Given the description of an element on the screen output the (x, y) to click on. 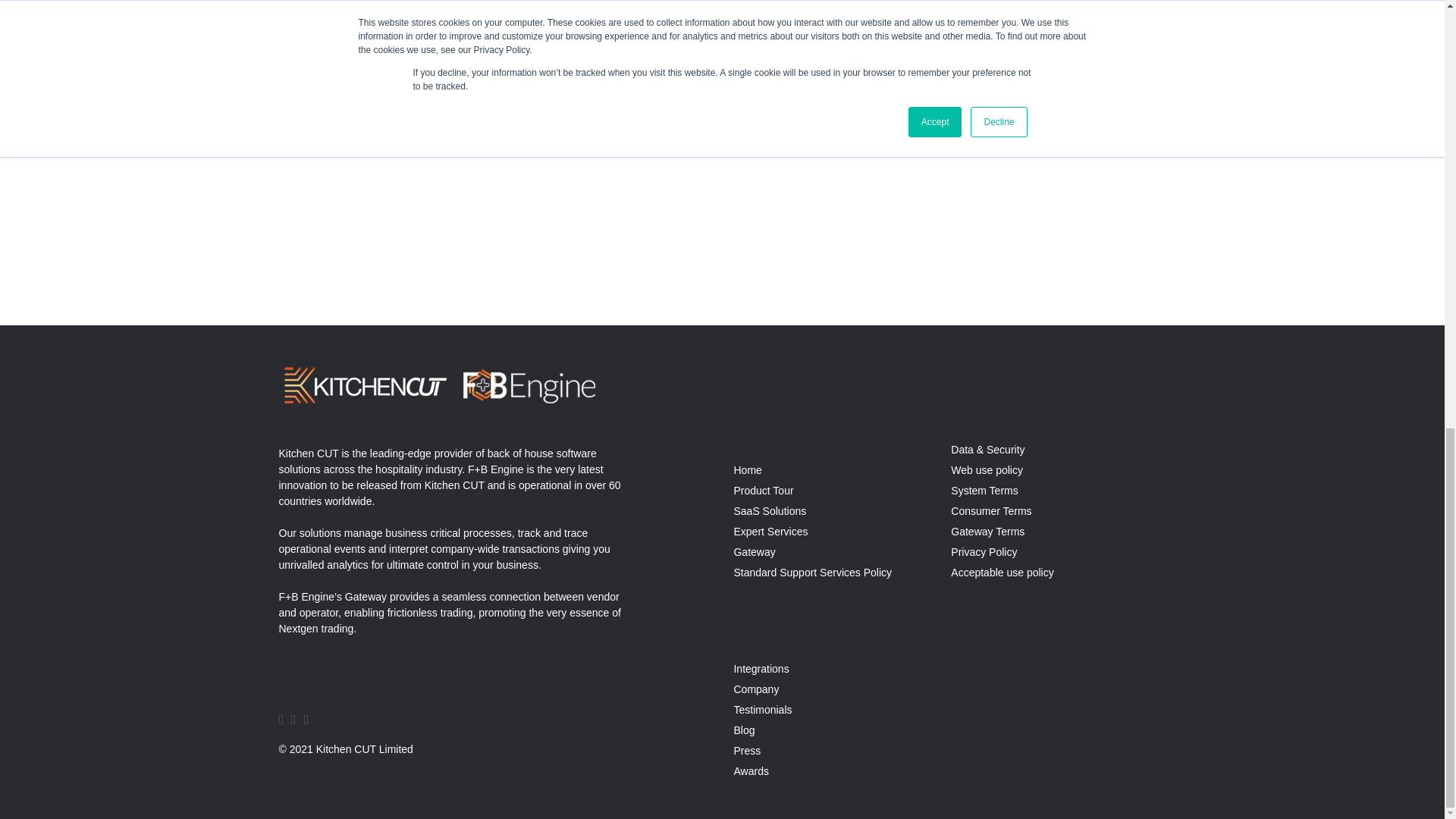
Testimonials (762, 709)
System Terms (983, 490)
Gateway (753, 551)
Expert Services (770, 531)
Privacy Policy (983, 551)
Integrations (761, 668)
Blog (743, 729)
Product Tour (763, 490)
SaaS Solutions (769, 510)
Standard Support Services Policy (812, 572)
Web use policy (986, 469)
Acceptable use policy (1001, 572)
Consumer Terms (990, 510)
Press (746, 750)
Company (755, 689)
